Given the description of an element on the screen output the (x, y) to click on. 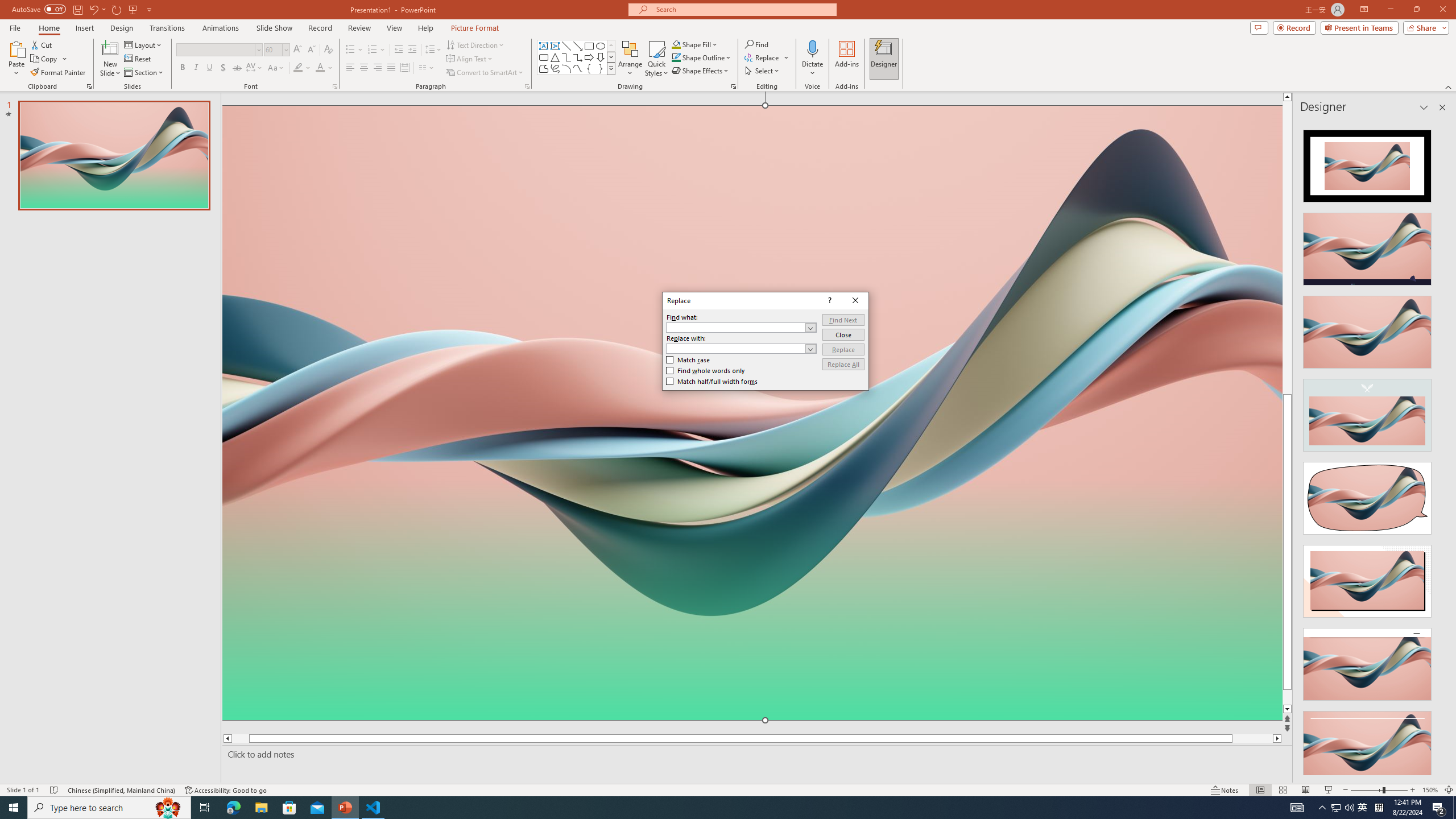
Decorative Locked (752, 579)
